Given the description of an element on the screen output the (x, y) to click on. 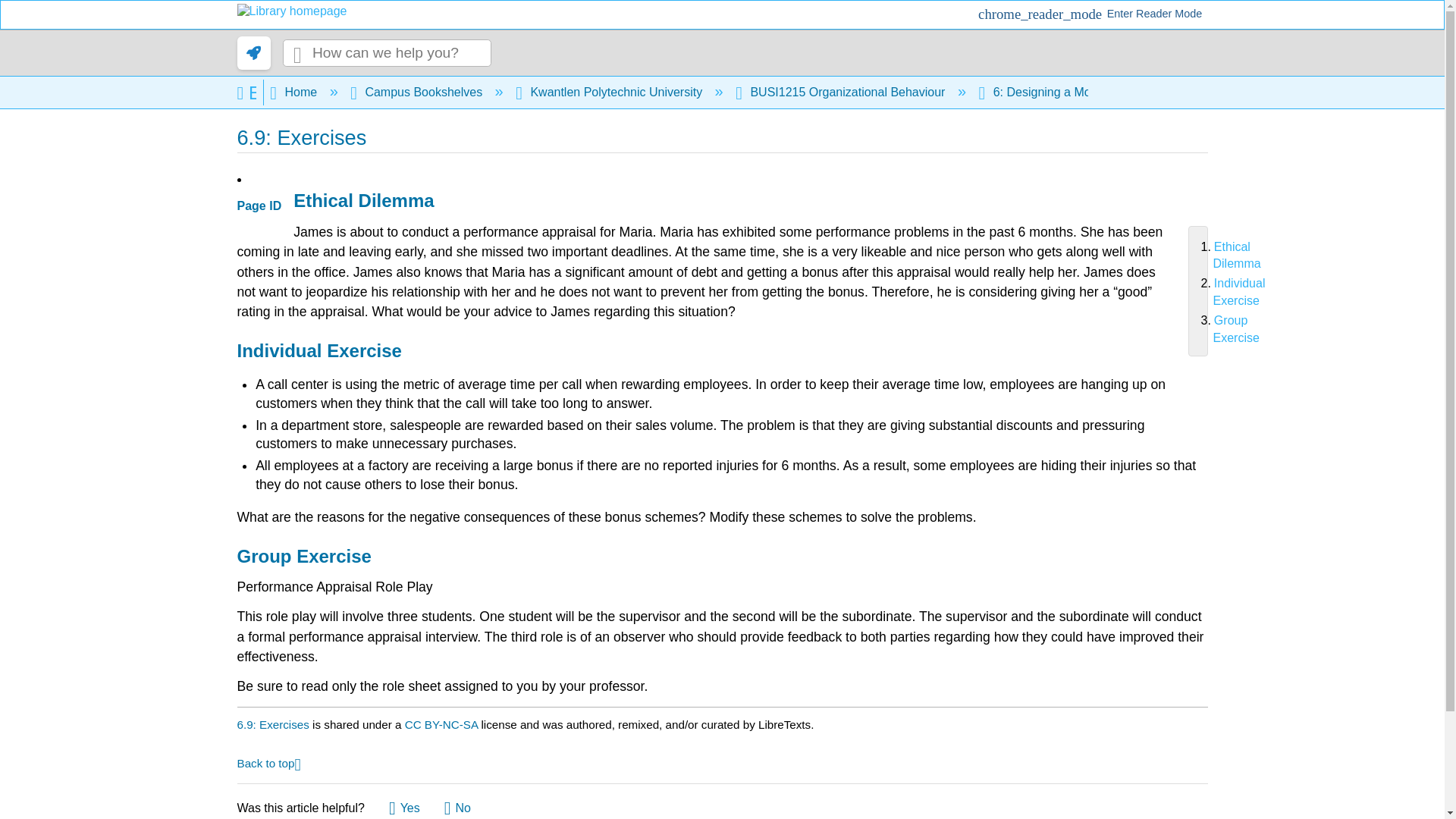
Jump back to top of this article (267, 762)
